Given the description of an element on the screen output the (x, y) to click on. 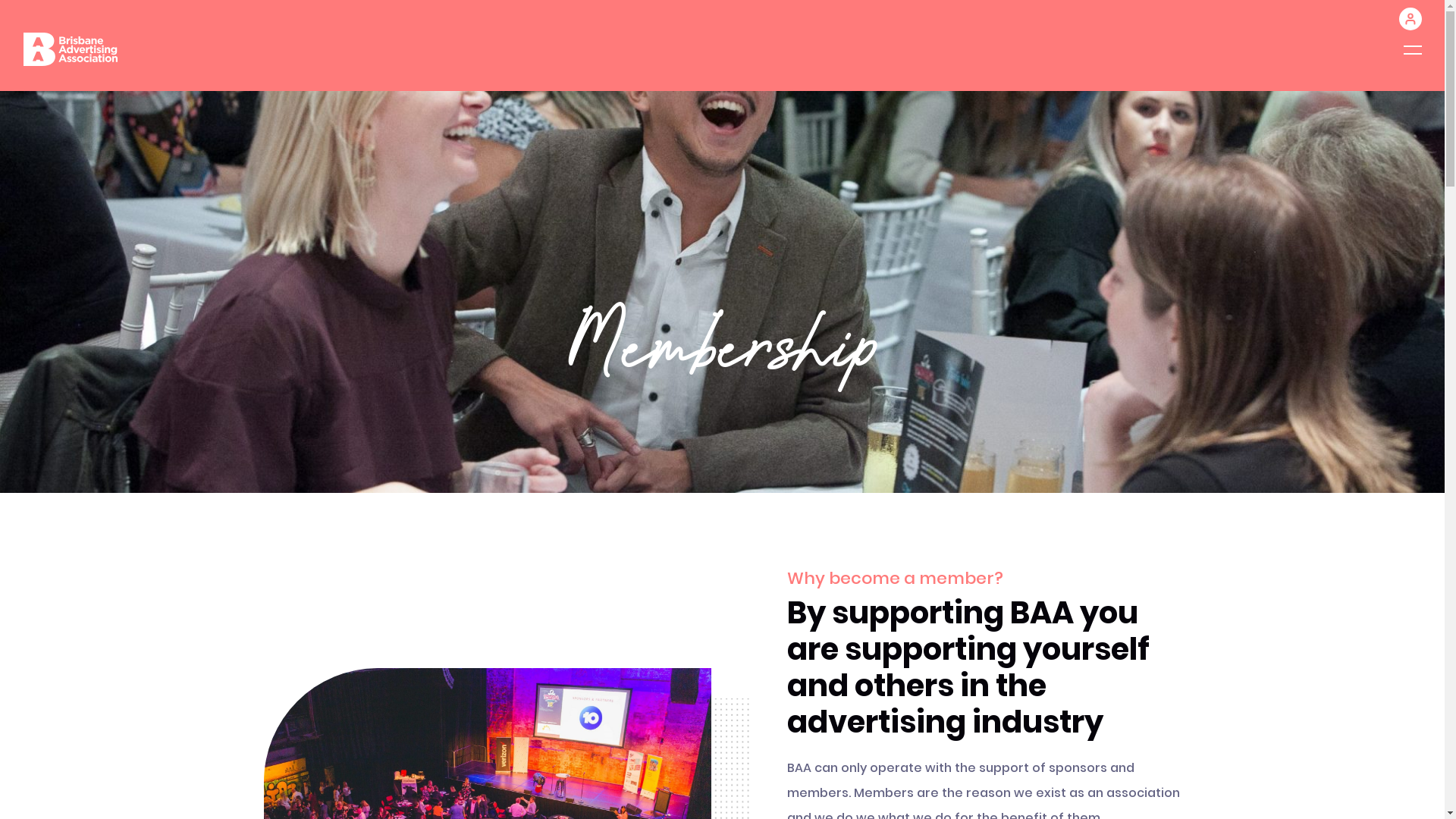
Skip to content Element type: text (0, 0)
